Given the description of an element on the screen output the (x, y) to click on. 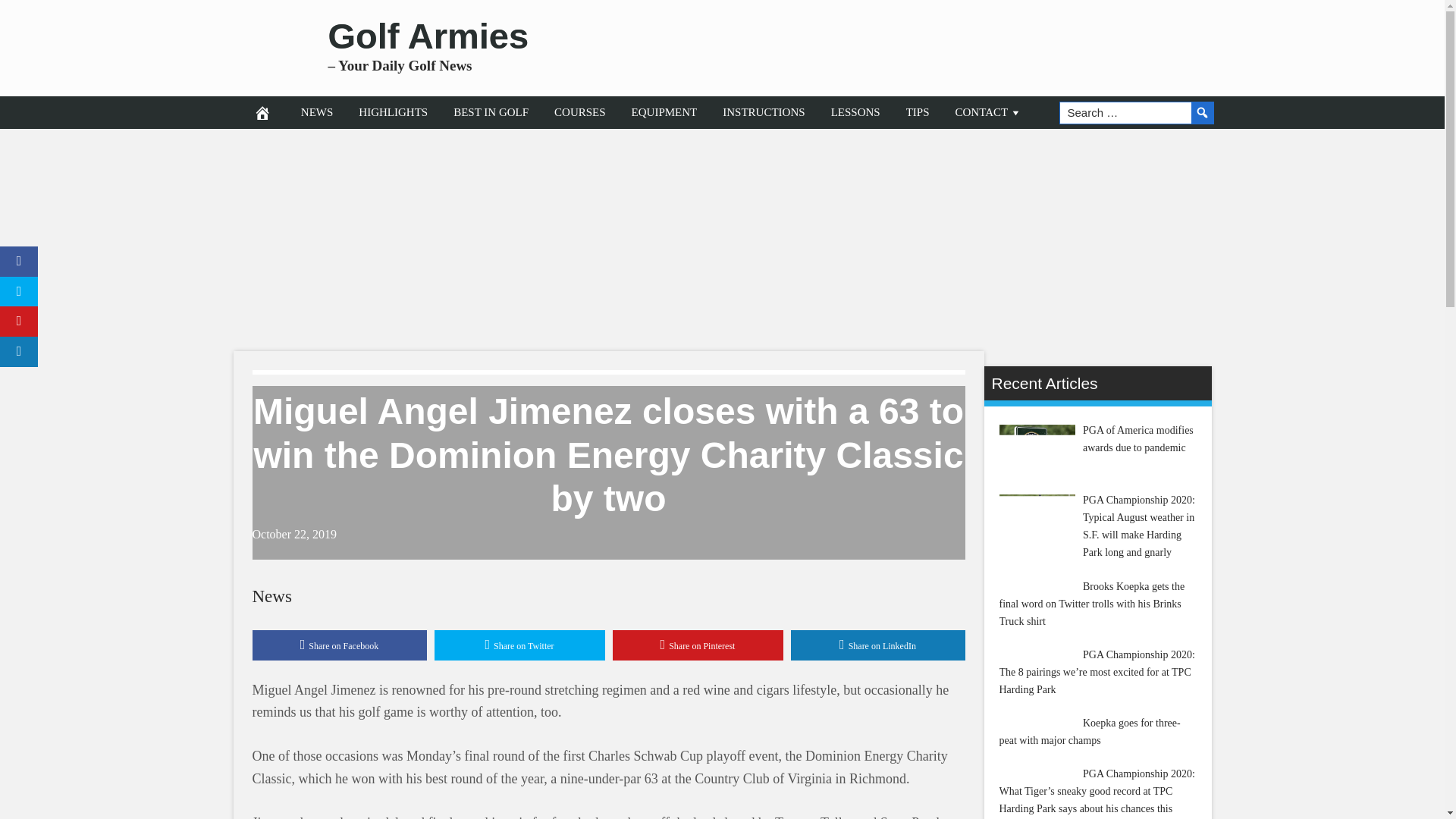
EQUIPMENT (664, 112)
NEWS (317, 112)
HIGHLIGHTS (393, 112)
CONTACT (988, 112)
TIPS (917, 112)
BEST IN GOLF (491, 112)
COURSES (579, 112)
INSTRUCTIONS (763, 112)
Golf Armies (427, 35)
LESSONS (855, 112)
